Given the description of an element on the screen output the (x, y) to click on. 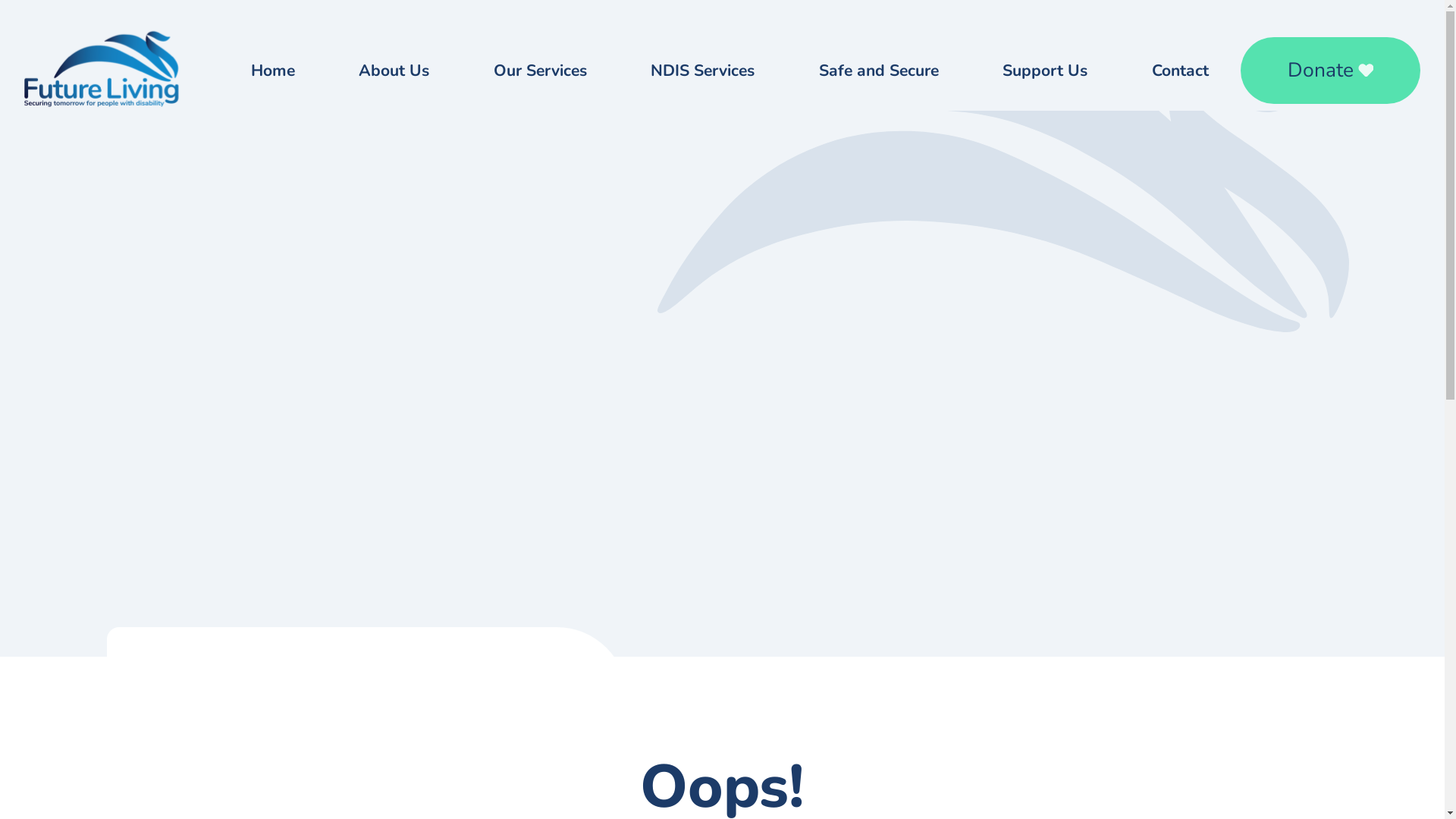
Support Us Element type: text (1044, 70)
Donate Element type: text (1330, 70)
About Us Element type: text (393, 70)
Home Element type: text (272, 70)
Our Services Element type: text (539, 70)
Contact Element type: text (1179, 70)
Safe and Secure Element type: text (877, 70)
NDIS Services Element type: text (702, 70)
